Given the description of an element on the screen output the (x, y) to click on. 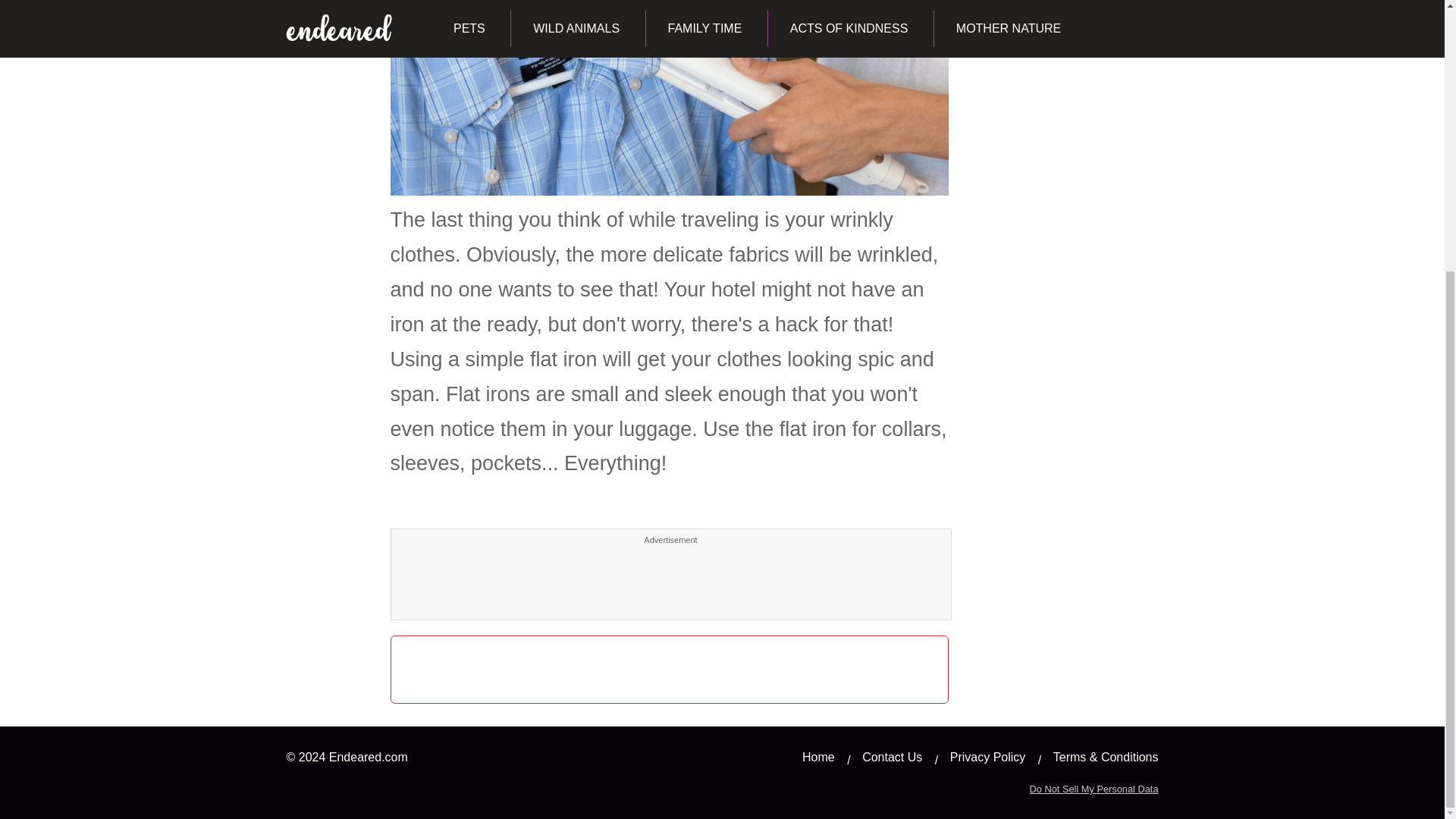
Do Not Sell My Personal Data (1093, 788)
Contact Us (891, 757)
Home (818, 757)
Privacy Policy (988, 757)
